Given the description of an element on the screen output the (x, y) to click on. 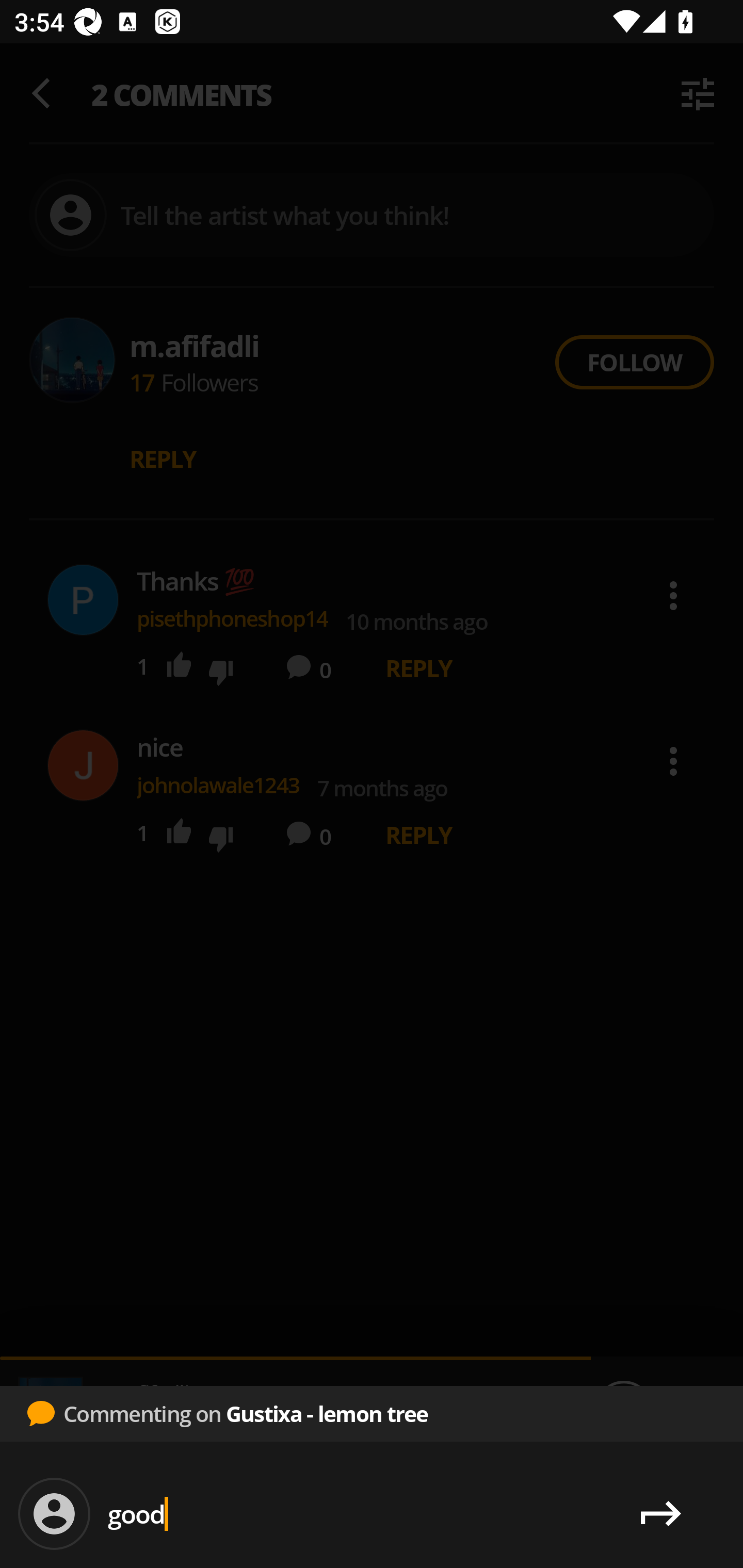
My Library (668, 1513)
